Given the description of an element on the screen output the (x, y) to click on. 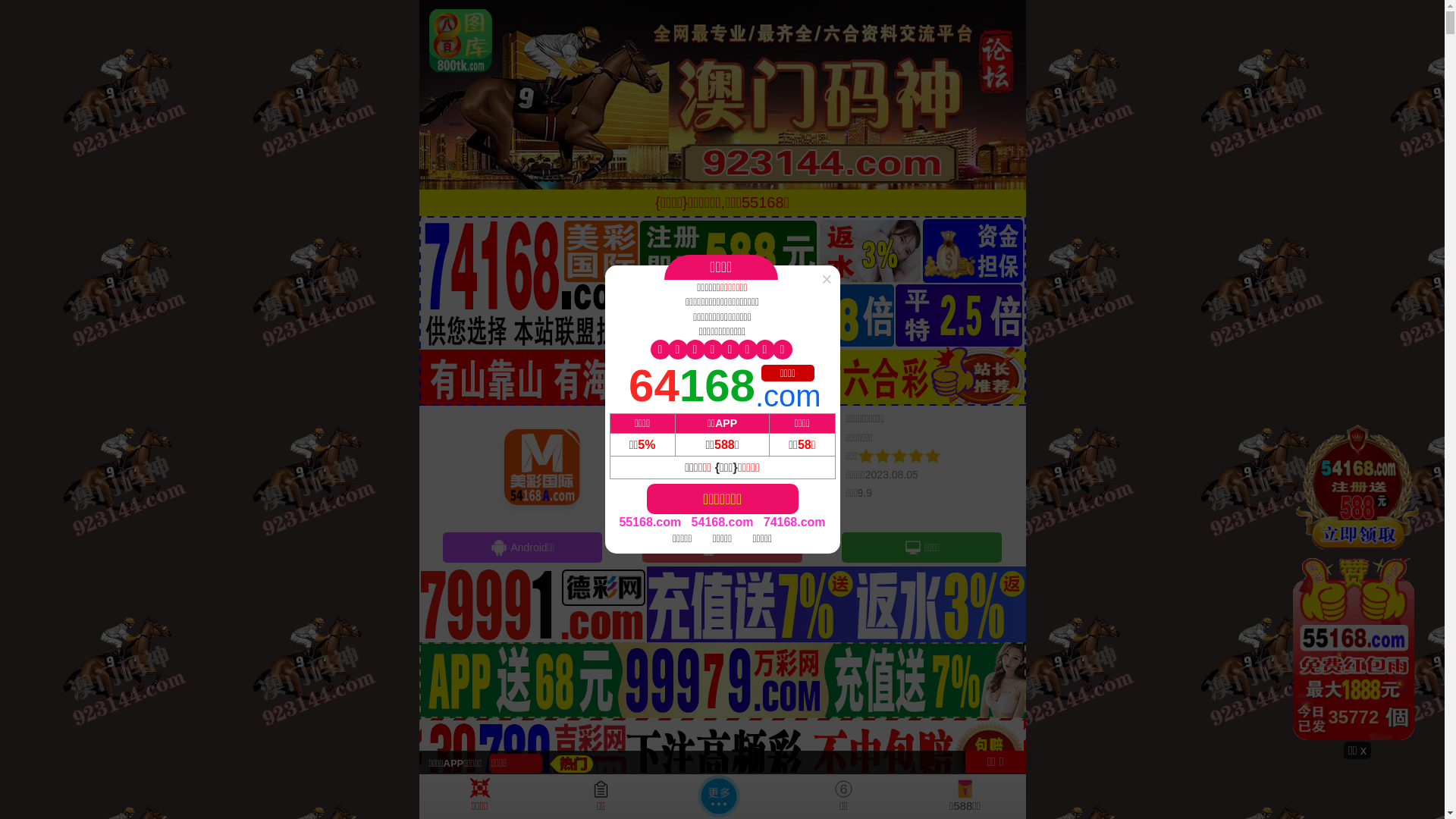
34990 Element type: text (1356, 582)
